Given the description of an element on the screen output the (x, y) to click on. 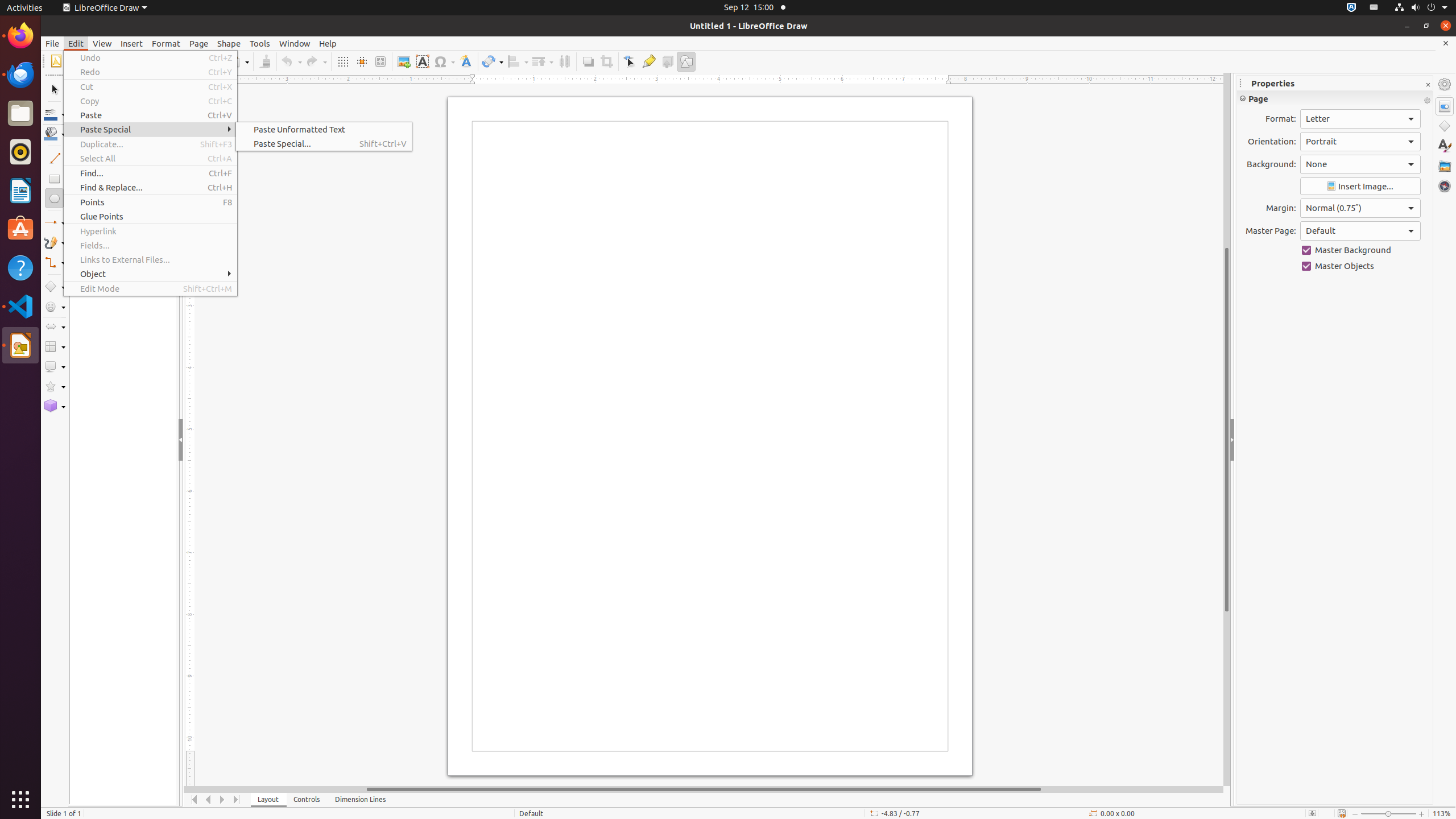
Format Element type: menu (165, 43)
Undo Element type: push-button (290, 61)
Zoom & Pan Element type: push-button (379, 61)
Helplines While Moving Element type: toggle-button (361, 61)
Close Sidebar Deck Element type: push-button (1427, 84)
